Given the description of an element on the screen output the (x, y) to click on. 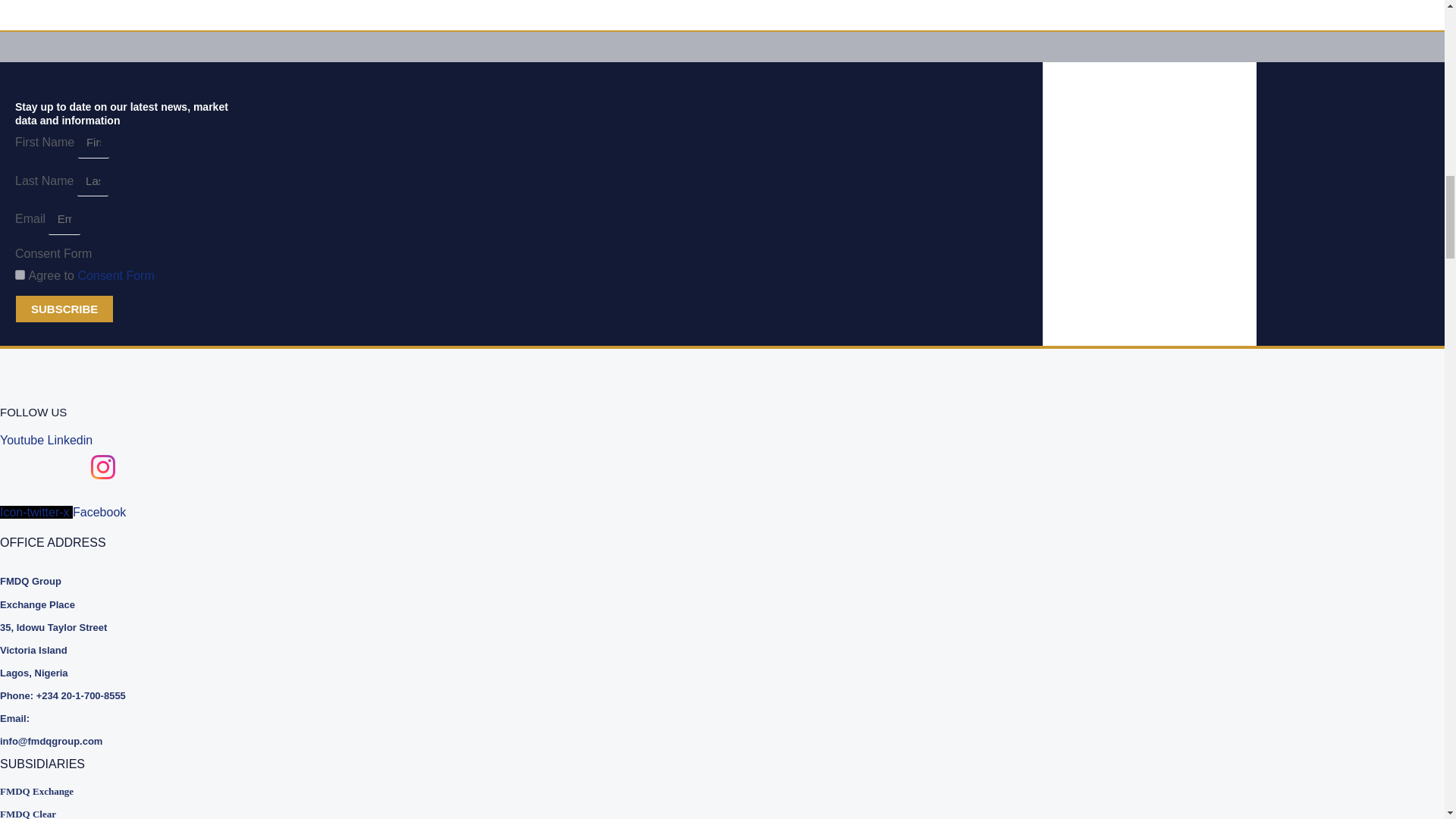
Facebook (98, 512)
Youtube (24, 440)
Consent Form (115, 275)
SUBSCRIBE (63, 308)
Icon-twitter-x (36, 512)
FMDQ Clear (79, 811)
Linkedin (70, 440)
on (19, 275)
FMDQ Exchange (79, 791)
